Given the description of an element on the screen output the (x, y) to click on. 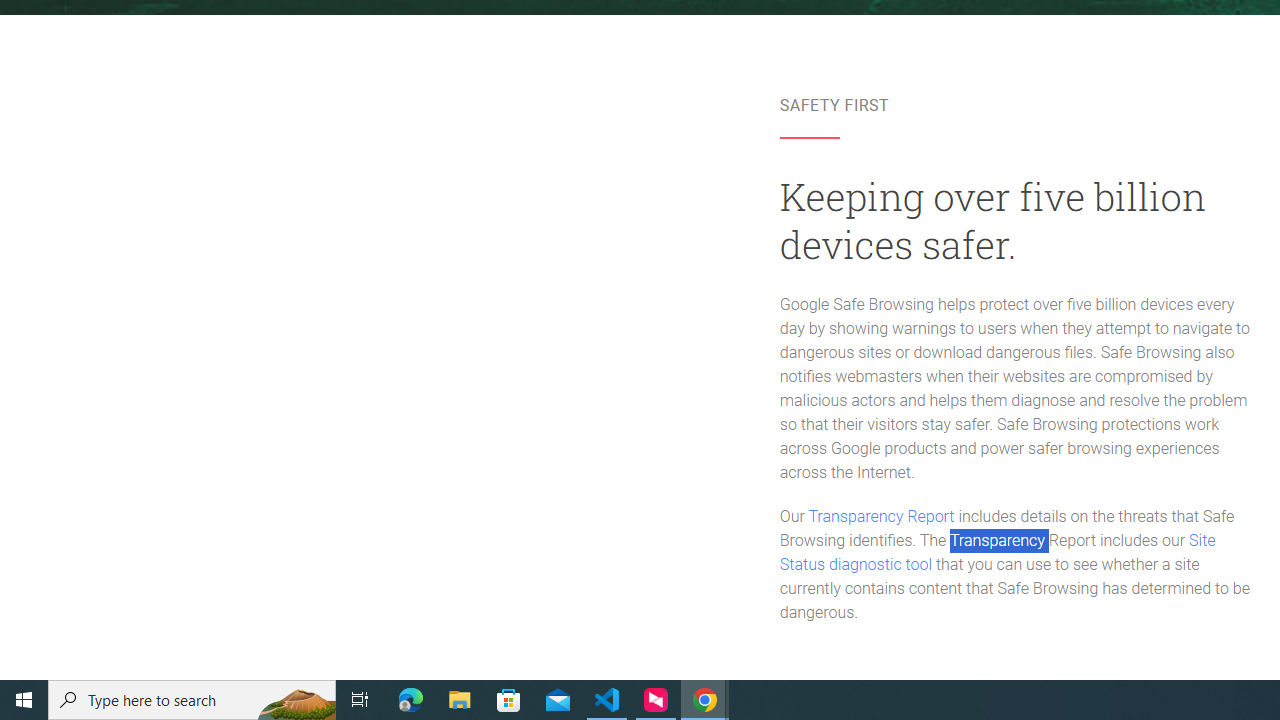
Site Status diagnostic tool (997, 553)
Transparency Report (880, 516)
